Given the description of an element on the screen output the (x, y) to click on. 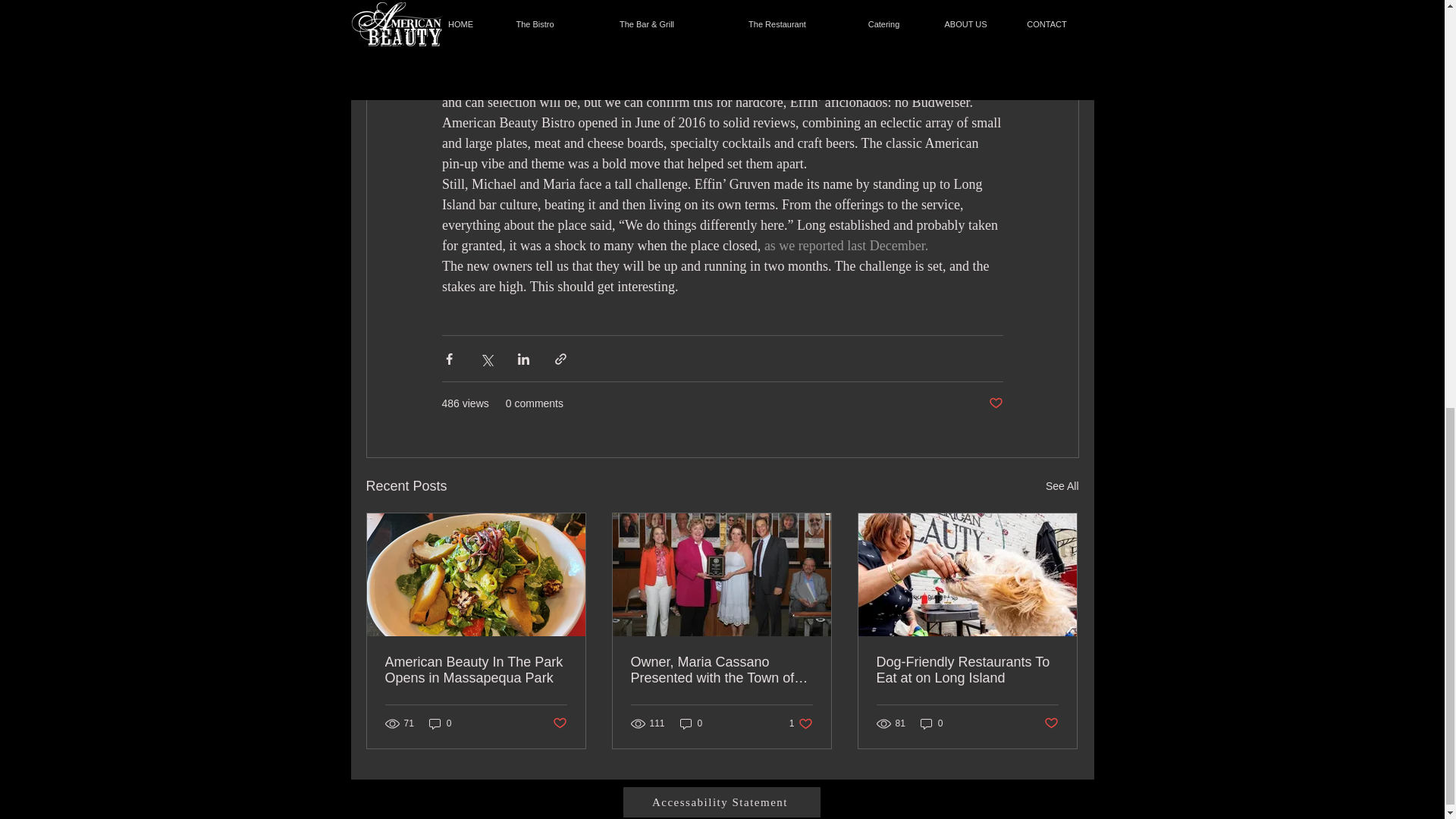
See All (1061, 486)
American Beauty In The Park Opens in Massapequa Park (476, 670)
as we reported last December. (844, 245)
Post not marked as liked (995, 403)
